Given the description of an element on the screen output the (x, y) to click on. 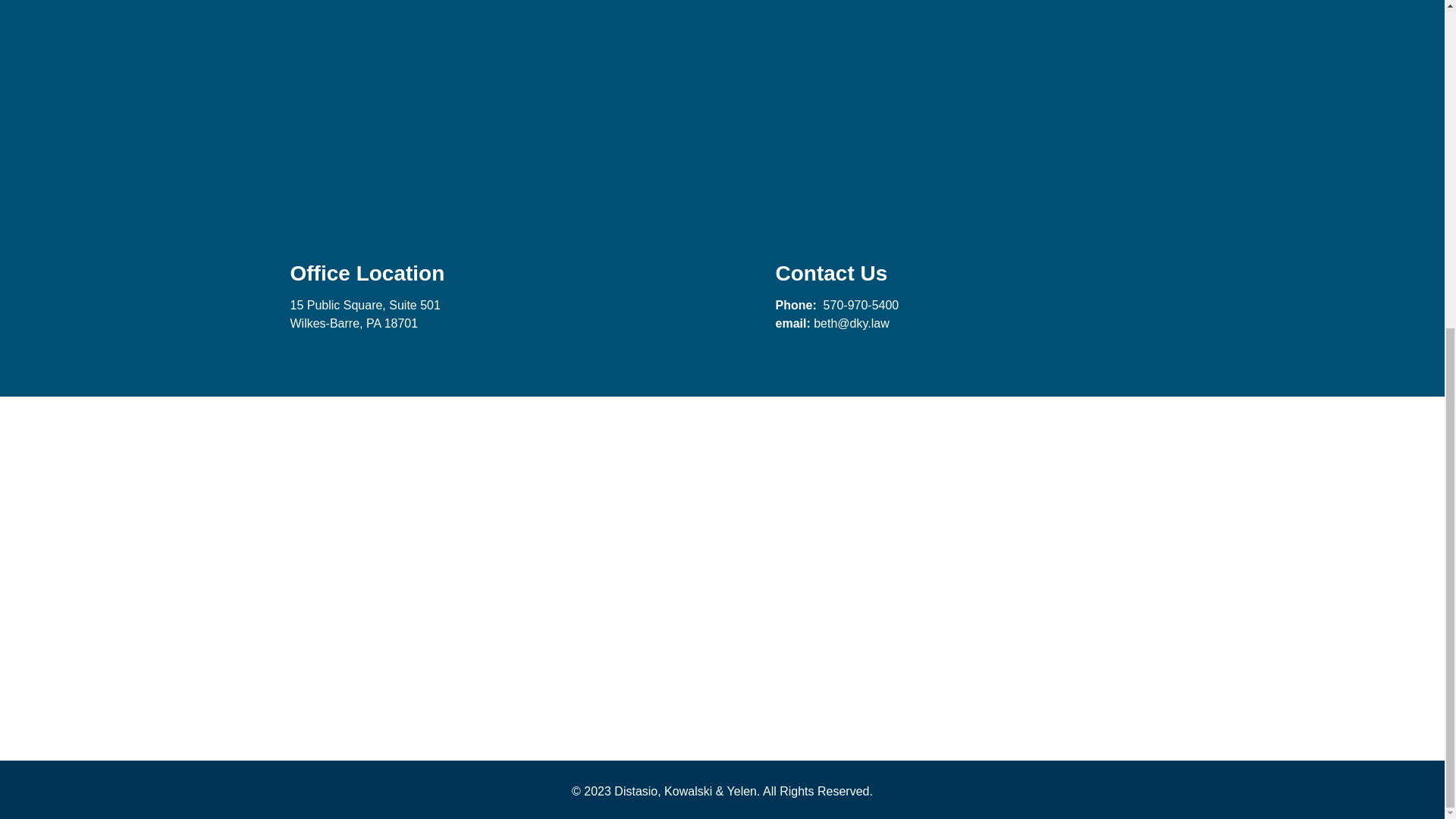
Year.png (1110, 669)
Multi-Million-Dollar-Advocates-Forum (333, 487)
logo-150x150 (527, 669)
Top100TrialLawyers (527, 487)
logo-lawyers-of-distinction (721, 668)
Year.png (1110, 487)
download (722, 487)
